Given the description of an element on the screen output the (x, y) to click on. 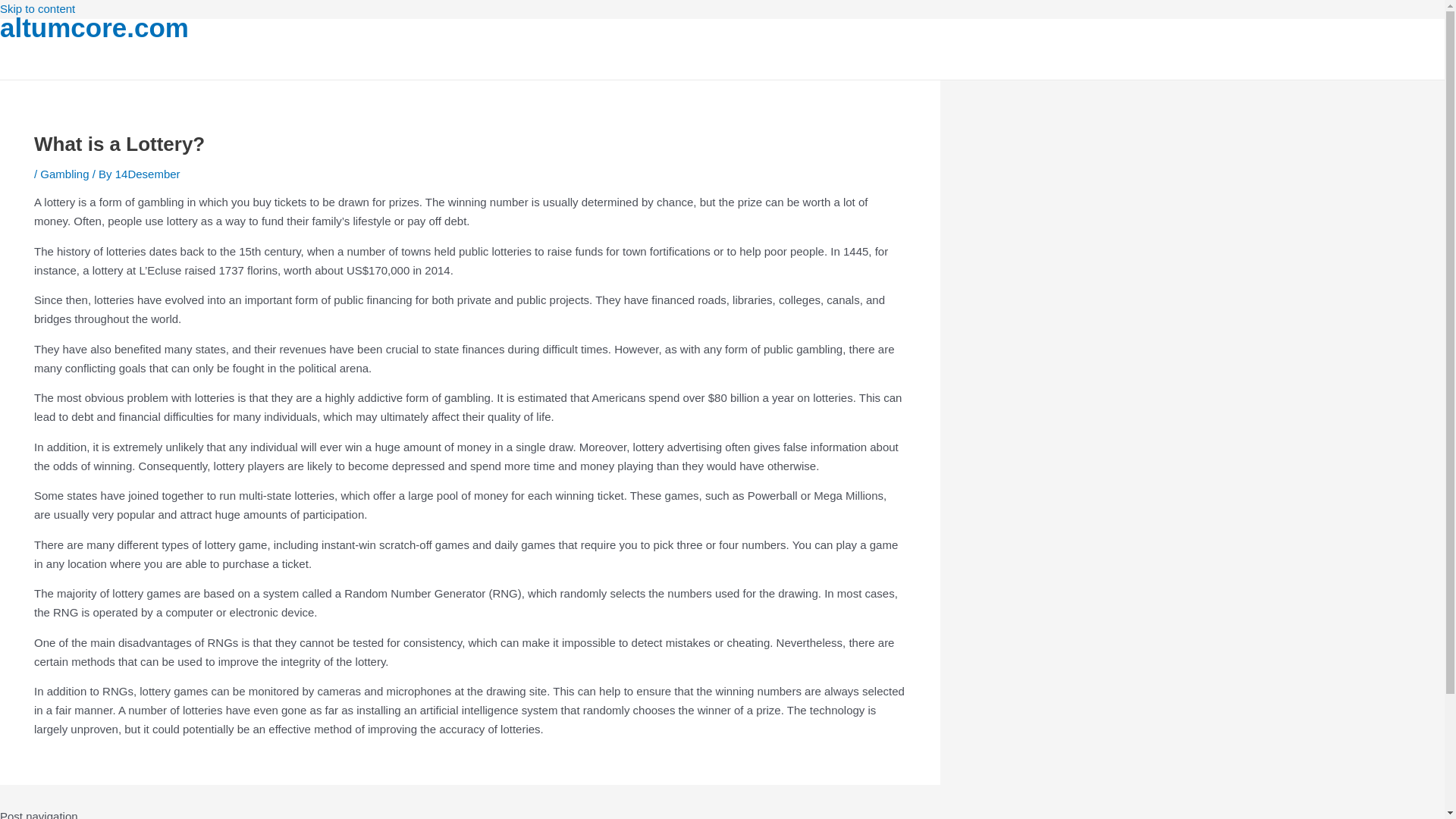
View all posts by 14Desember (147, 173)
Skip to content (37, 8)
14Desember (147, 173)
Skip to content (37, 8)
altumcore.com (94, 27)
Gambling (64, 173)
